Given the description of an element on the screen output the (x, y) to click on. 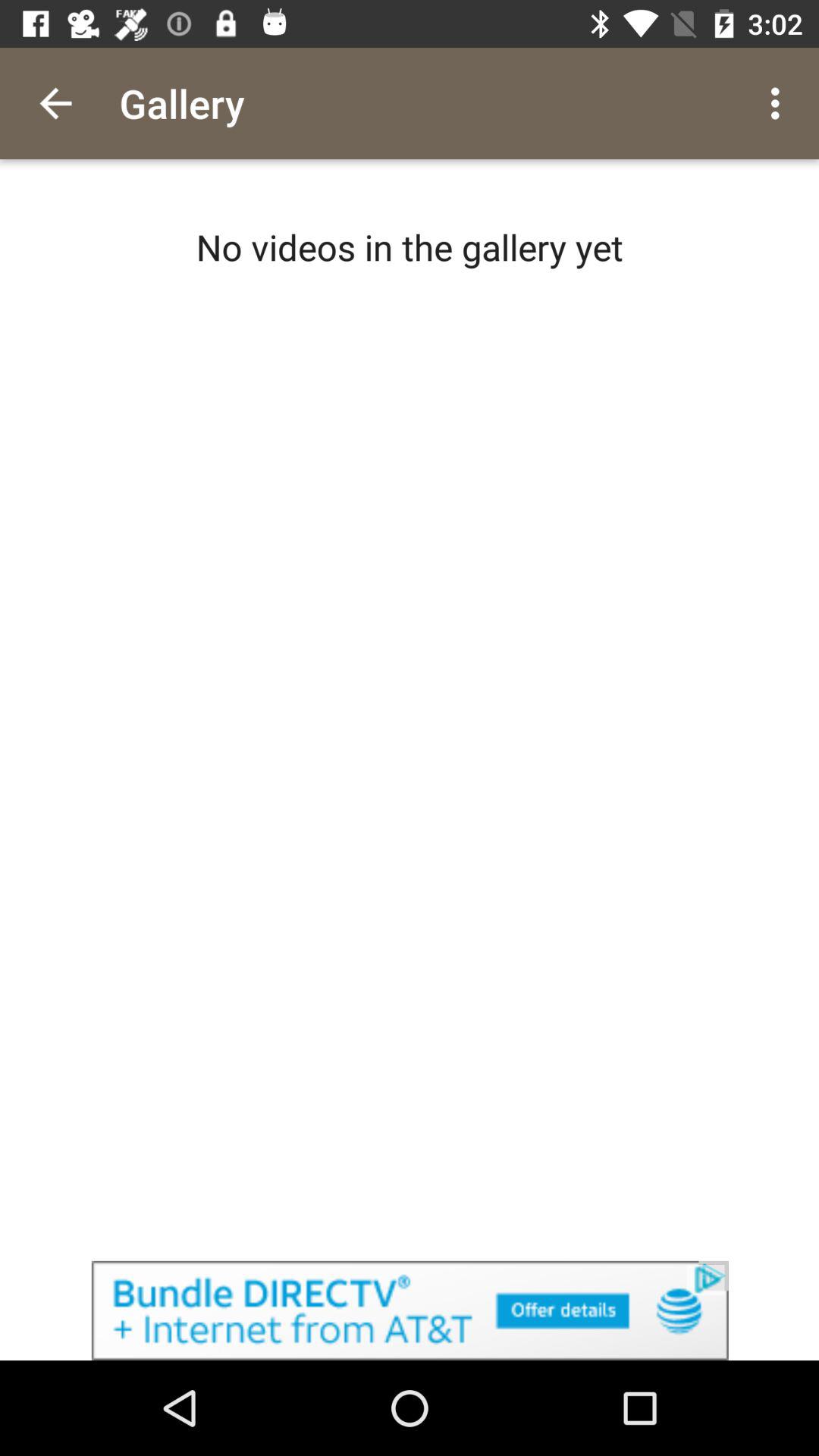
advertising (409, 1310)
